Given the description of an element on the screen output the (x, y) to click on. 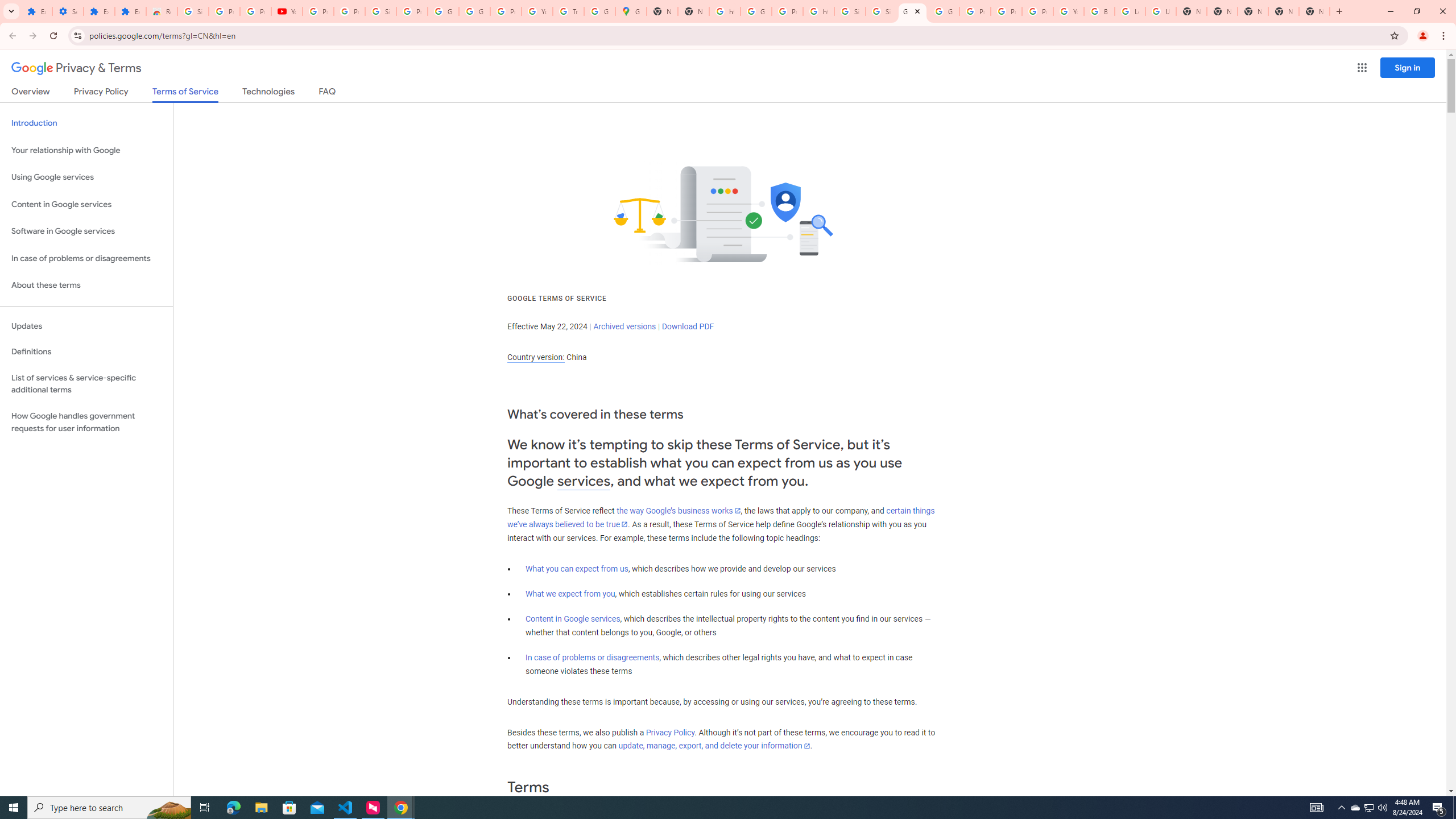
services (583, 480)
Privacy Help Center - Policies Help (974, 11)
What we expect from you (570, 593)
How Google handles government requests for user information (86, 422)
https://scholar.google.com/ (818, 11)
Extensions (98, 11)
update, manage, export, and delete your information (714, 746)
